Given the description of an element on the screen output the (x, y) to click on. 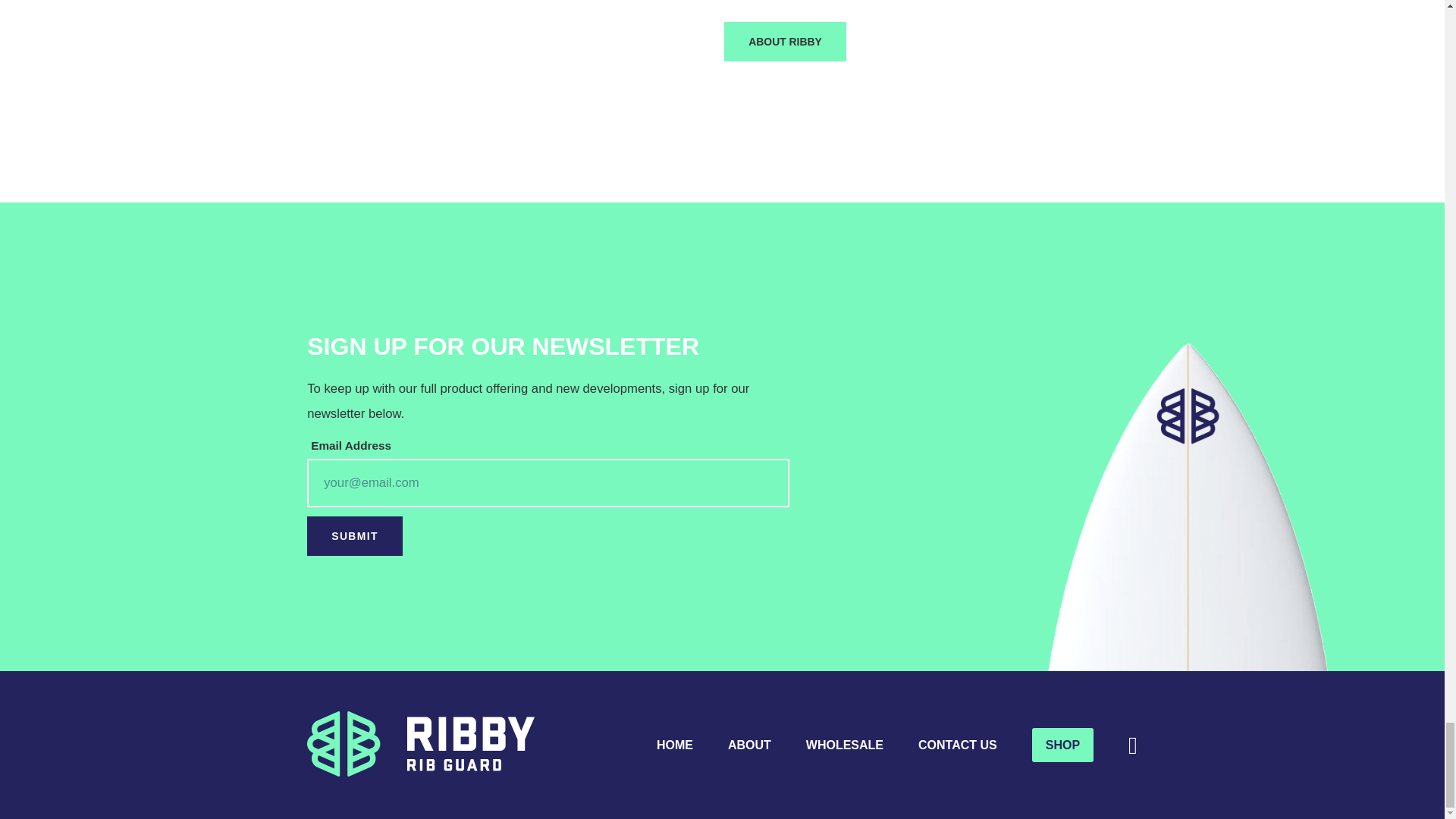
Submit (355, 536)
